Given the description of an element on the screen output the (x, y) to click on. 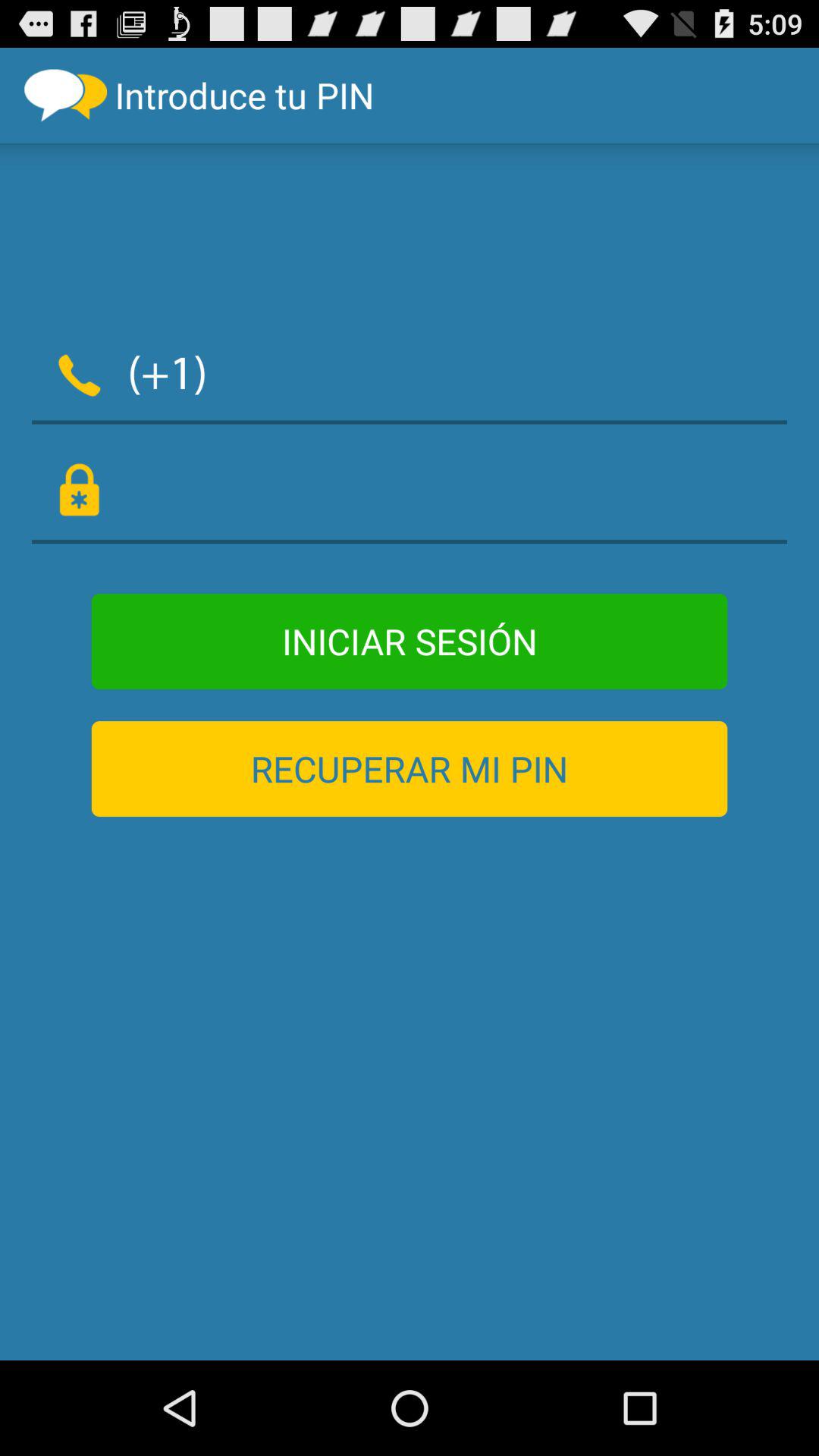
launch the item next to the (+1) item (507, 371)
